Given the description of an element on the screen output the (x, y) to click on. 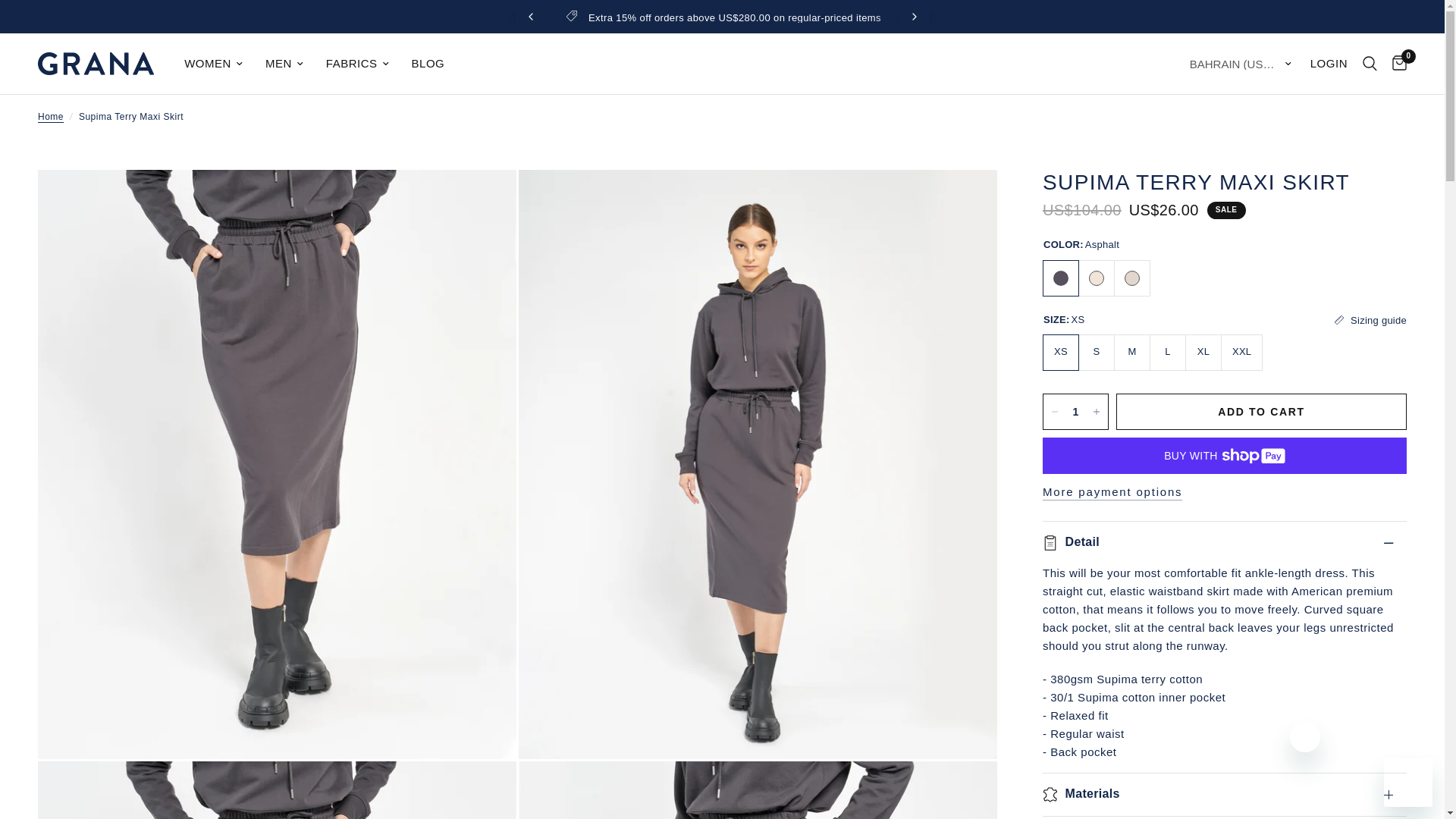
1 (1074, 411)
